Given the description of an element on the screen output the (x, y) to click on. 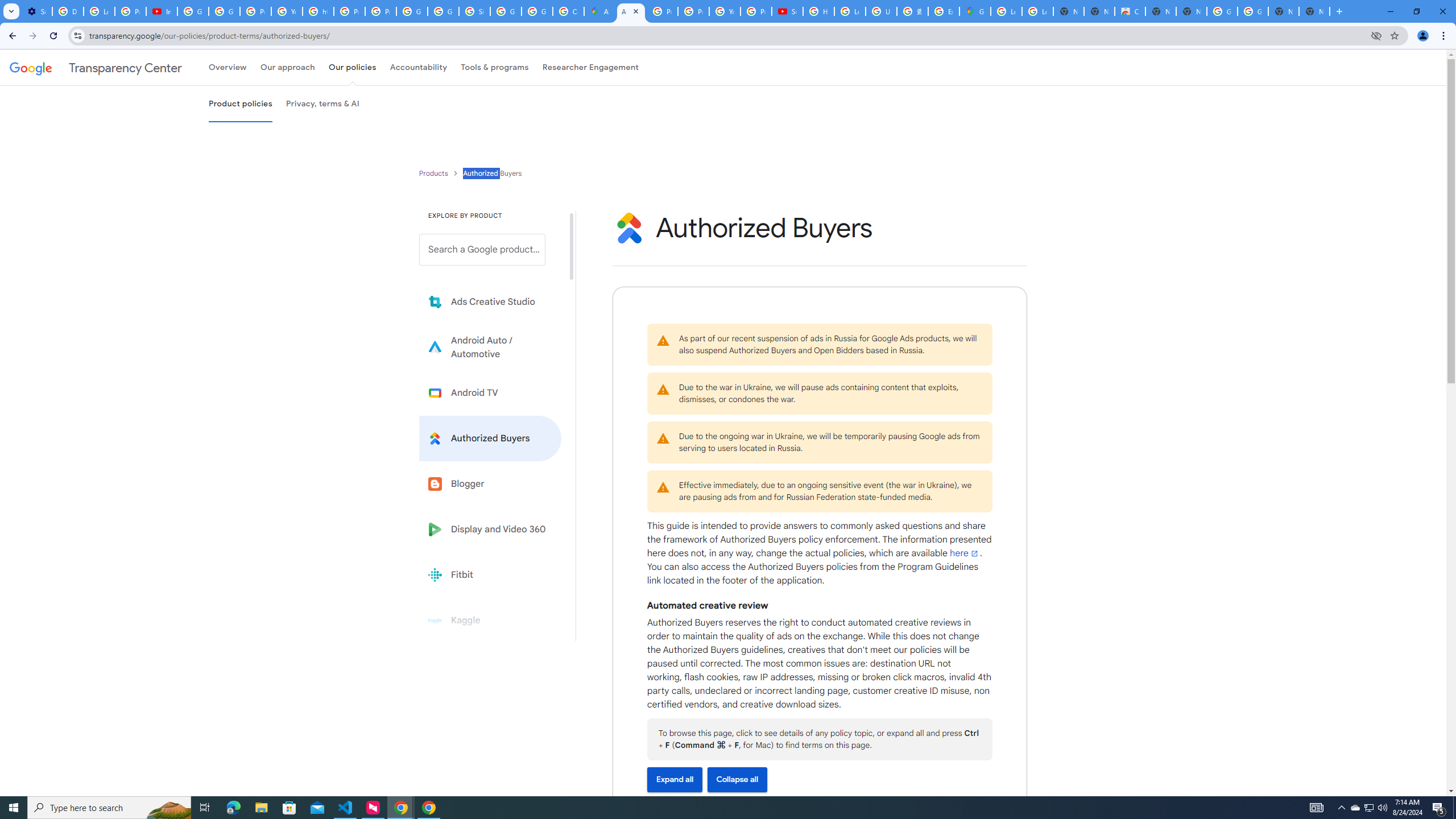
Settings - Performance (36, 11)
Blogger (490, 483)
Our approach (287, 67)
Google Images (1222, 11)
Fitbit (490, 574)
Kaggle (490, 619)
Privacy, terms & AI (322, 103)
Display and Video 360 (490, 529)
Learn more about Android TV (490, 393)
Address and search bar (726, 35)
